Given the description of an element on the screen output the (x, y) to click on. 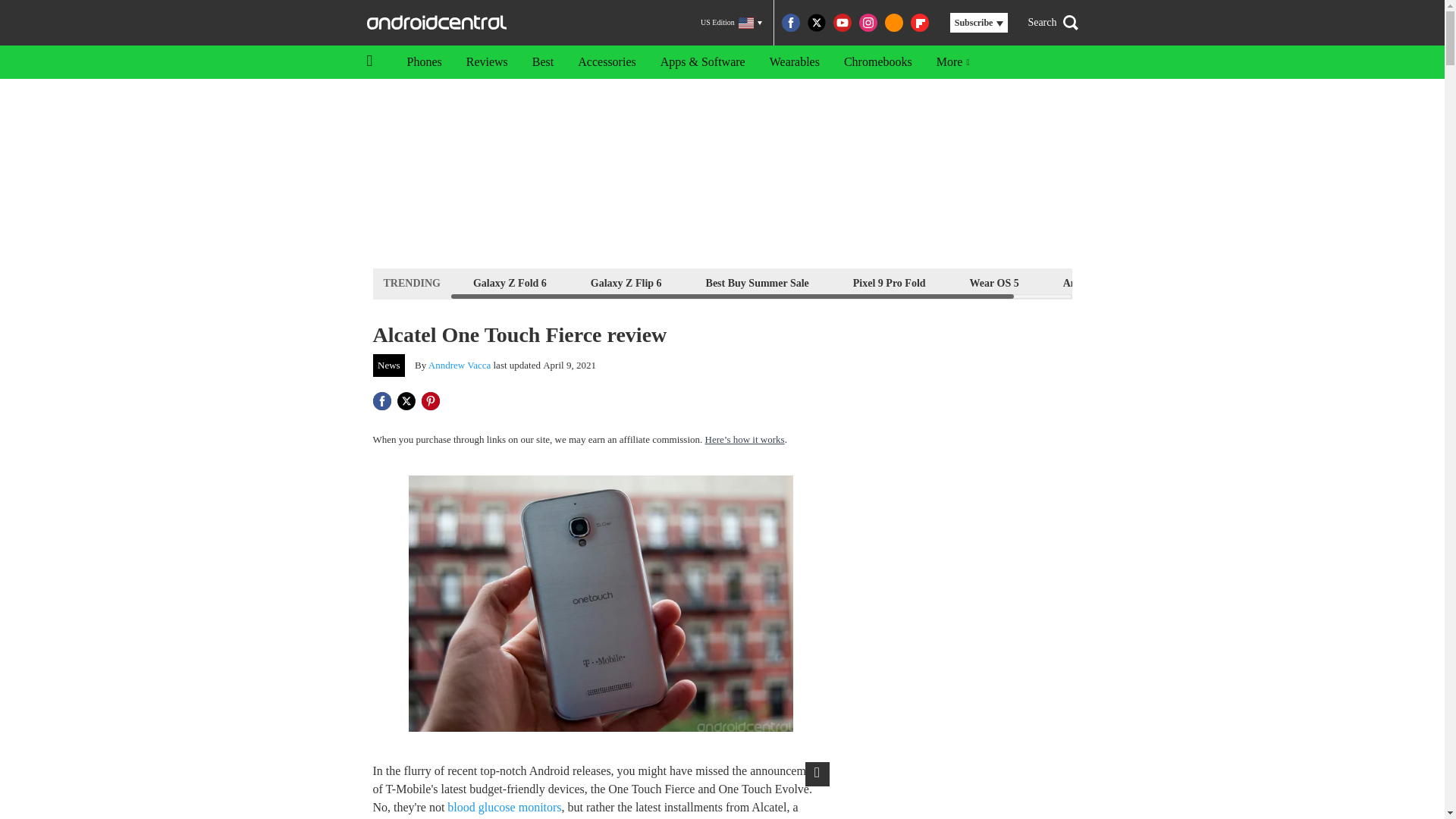
Galaxy Z Fold 6 (509, 282)
Accessories (606, 61)
Galaxy Z Flip 6 (625, 282)
Best (542, 61)
Wear OS 5 (994, 282)
Chromebooks (877, 61)
Reviews (486, 61)
Android 15 (1088, 282)
Pixel 9 Pro Fold (889, 282)
Wearables (794, 61)
Best Buy Summer Sale (756, 282)
US Edition (731, 22)
Phones (423, 61)
